Given the description of an element on the screen output the (x, y) to click on. 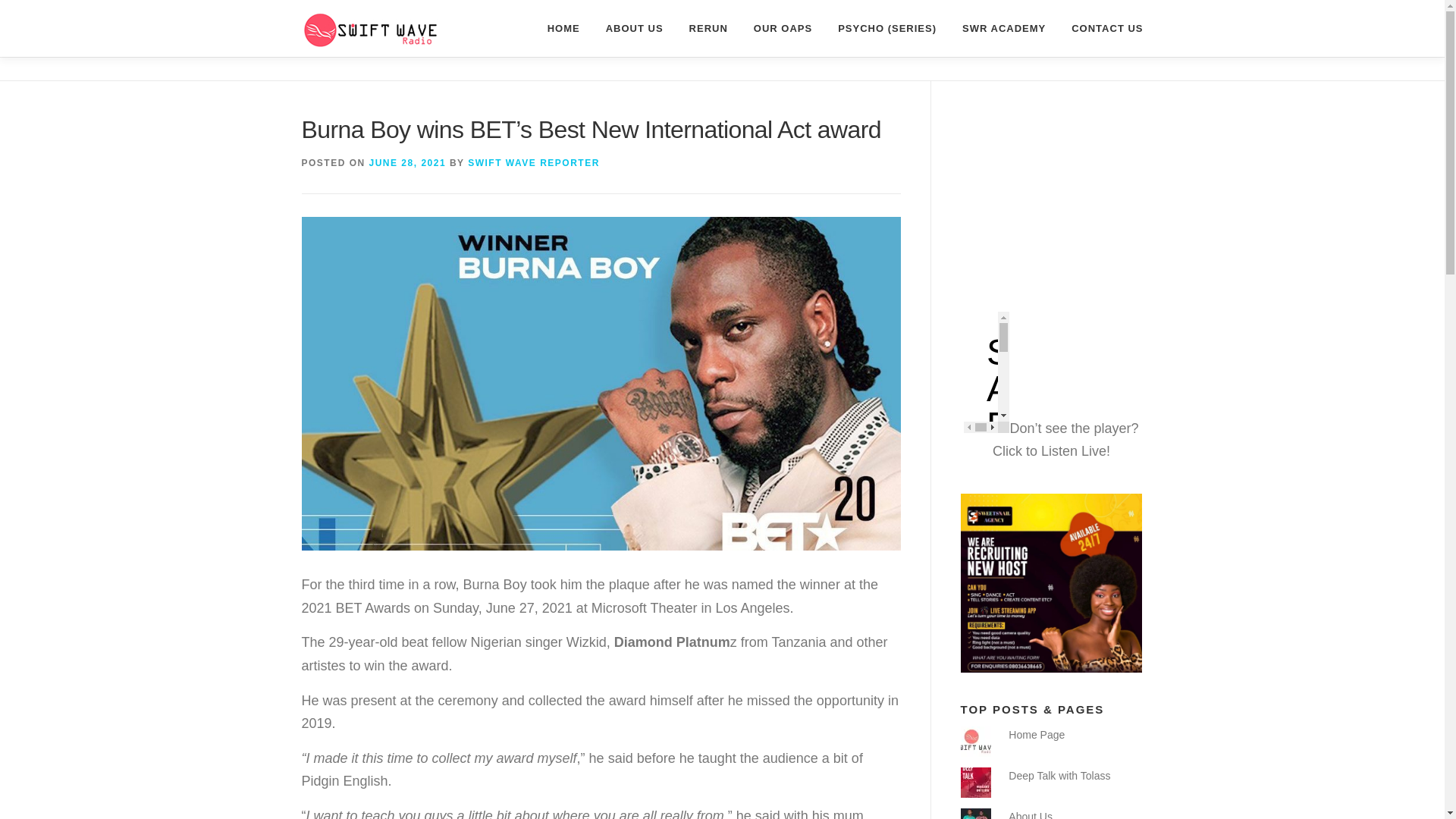
Home Page (1036, 734)
Deep Talk with Tolass (1059, 775)
Home Page (1036, 734)
SWR ACADEMY (1003, 28)
CONTACT US (1100, 28)
JUNE 28, 2021 (407, 163)
OUR OAPS (783, 28)
HOME (563, 28)
About Us (1030, 814)
Deep Talk with Tolass (1059, 775)
SWIFT WAVE REPORTER (533, 163)
ABOUT US (634, 28)
RERUN (709, 28)
